Given the description of an element on the screen output the (x, y) to click on. 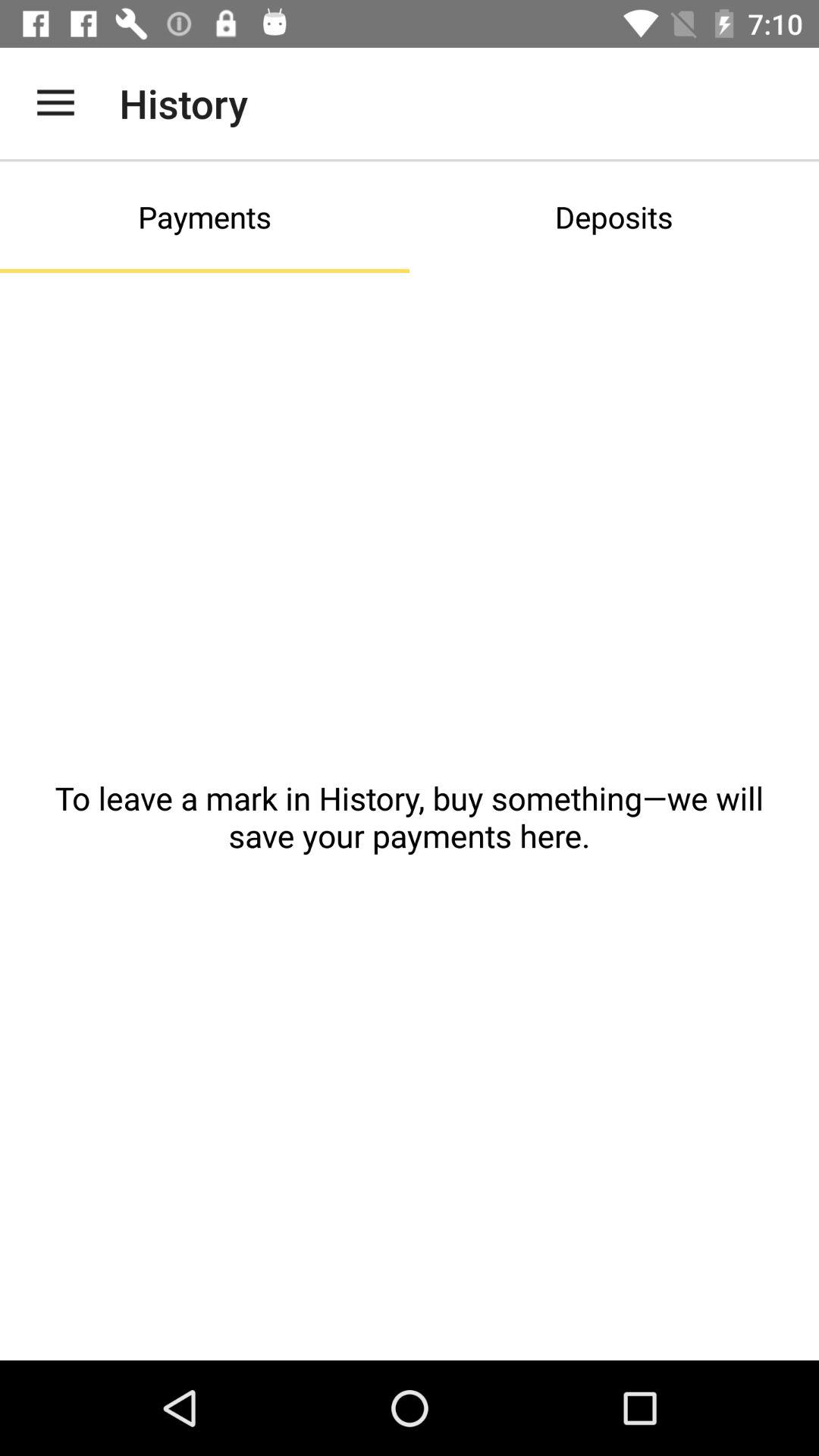
tap icon to the left of the history app (55, 103)
